Given the description of an element on the screen output the (x, y) to click on. 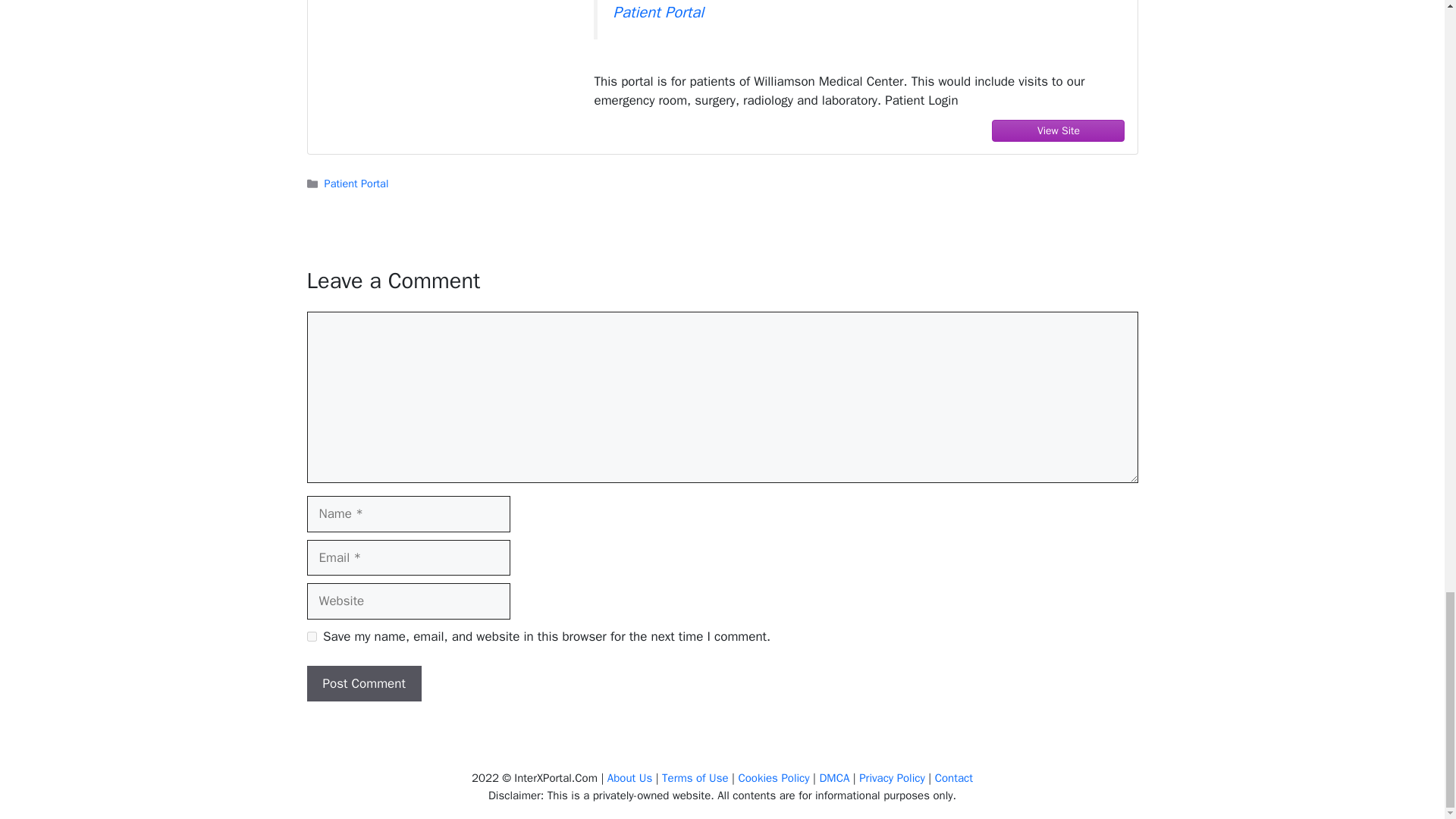
Post Comment (362, 683)
Terms of Use (695, 777)
View Site (1058, 130)
Privacy Policy (891, 777)
Cookies Policy (773, 777)
yes (310, 636)
Post Comment (362, 683)
Contact (953, 777)
About Us (629, 777)
Patient Portal (657, 12)
DMCA (833, 777)
Patient Portal (356, 183)
